Given the description of an element on the screen output the (x, y) to click on. 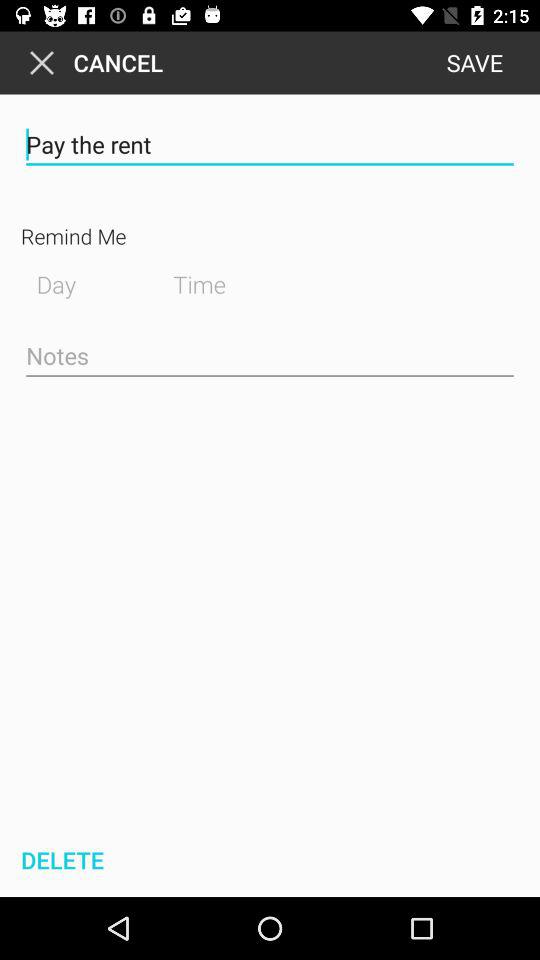
notes section (270, 357)
